Given the description of an element on the screen output the (x, y) to click on. 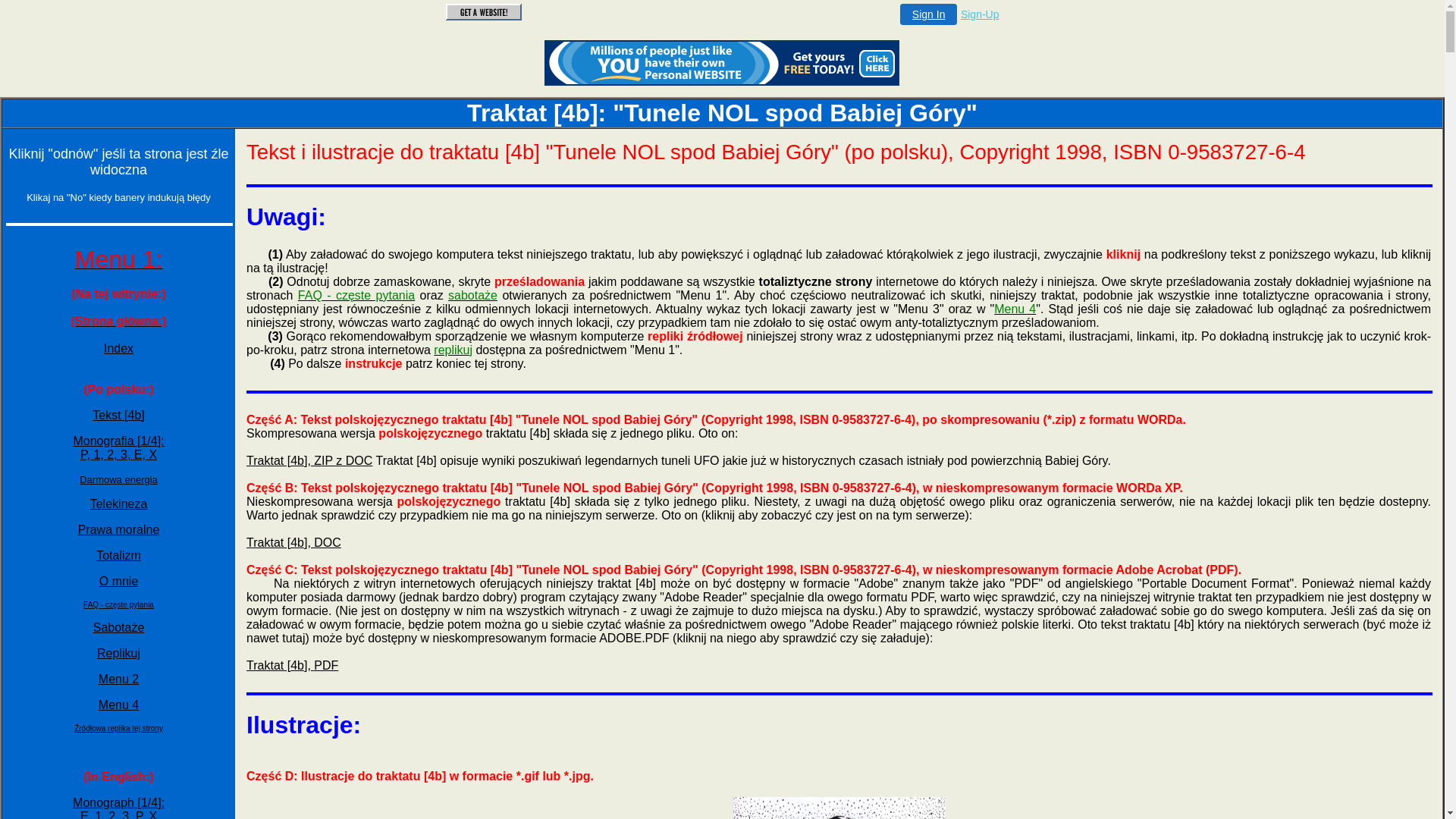
Sign In Element type: text (928, 14)
3, Element type: text (127, 454)
Menu 2 Element type: text (118, 678)
P, Element type: text (87, 454)
Traktat [4b], PDF Element type: text (292, 664)
Prawa moralne Element type: text (119, 529)
Telekineza Element type: text (118, 503)
Darmowa energia Element type: text (118, 478)
Traktat [4b], DOC Element type: text (293, 542)
Tekst [4b] Element type: text (118, 414)
Index Element type: text (118, 348)
Menu 4 Element type: text (118, 704)
Traktat [4b], ZIP z DOC Element type: text (309, 460)
2, Element type: text (113, 454)
X Element type: text (152, 454)
Totalizm Element type: text (118, 555)
Menu 4 Element type: text (1014, 308)
Monograph [1/4]: Element type: text (118, 802)
E, Element type: text (141, 454)
1, Element type: text (99, 454)
Monografia [1/4]: Element type: text (117, 440)
Replikuj Element type: text (118, 652)
Sign-Up Element type: text (979, 14)
replikuj Element type: text (452, 349)
O mnie Element type: text (118, 580)
Menu 1: Element type: text (119, 263)
